Given the description of an element on the screen output the (x, y) to click on. 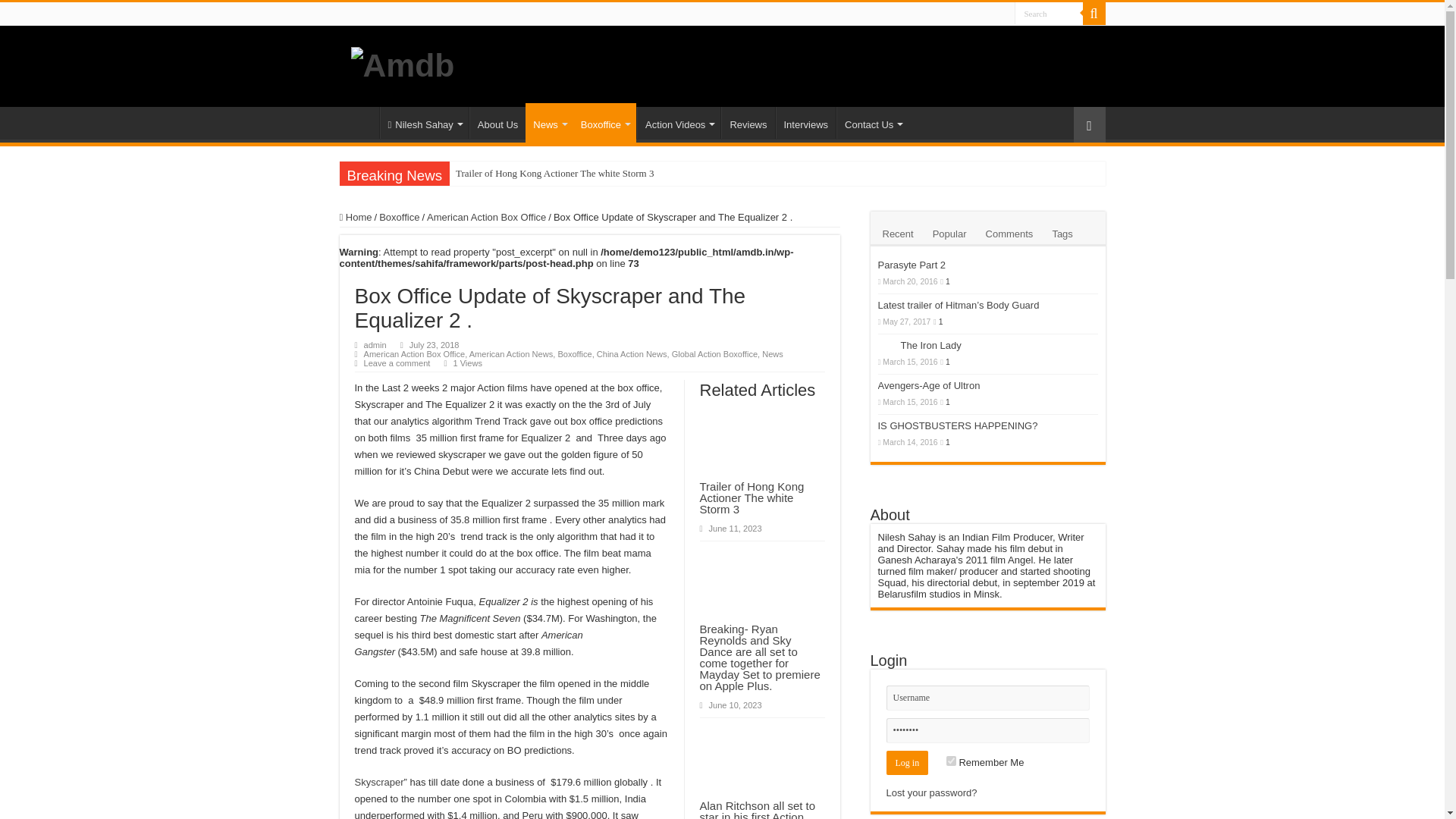
Password (987, 730)
Boxoffice (604, 122)
forever (951, 760)
Search (1048, 13)
Log in (906, 762)
Nilesh Sahay (422, 122)
About Us (496, 122)
Home (358, 122)
Action Videos (678, 122)
Search (1094, 13)
